Given the description of an element on the screen output the (x, y) to click on. 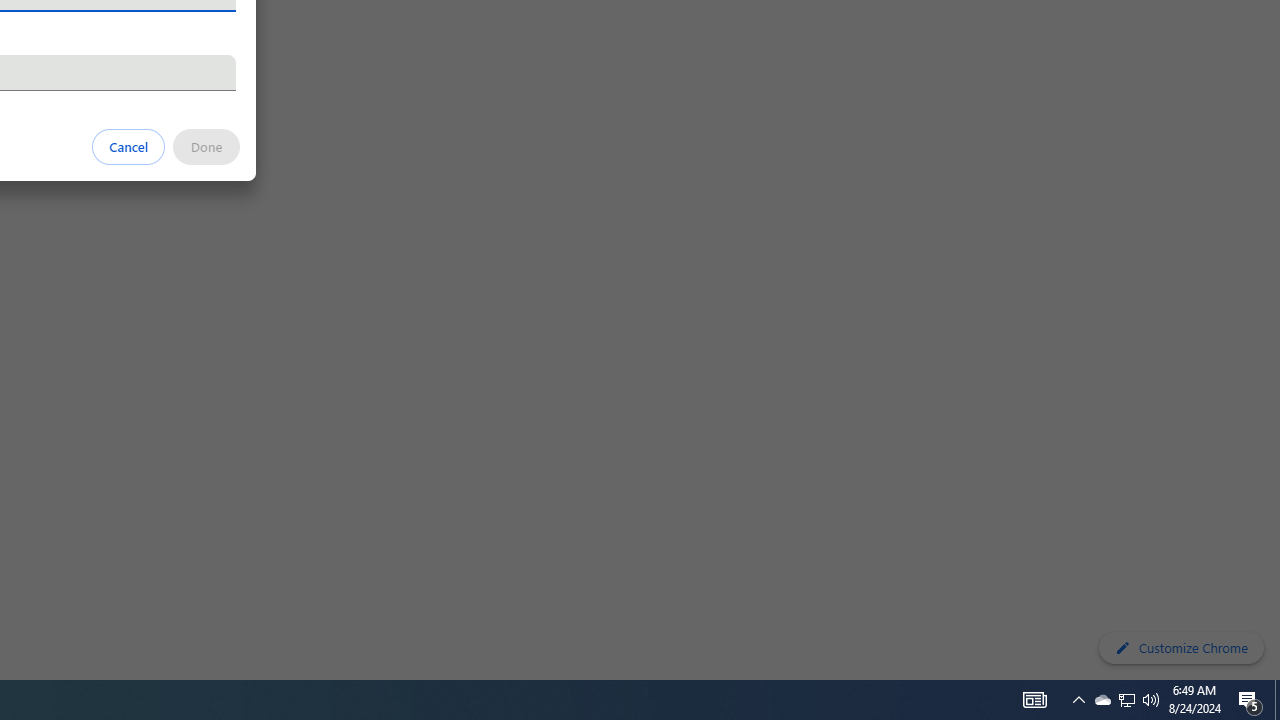
Cancel (129, 146)
Done (206, 146)
